Given the description of an element on the screen output the (x, y) to click on. 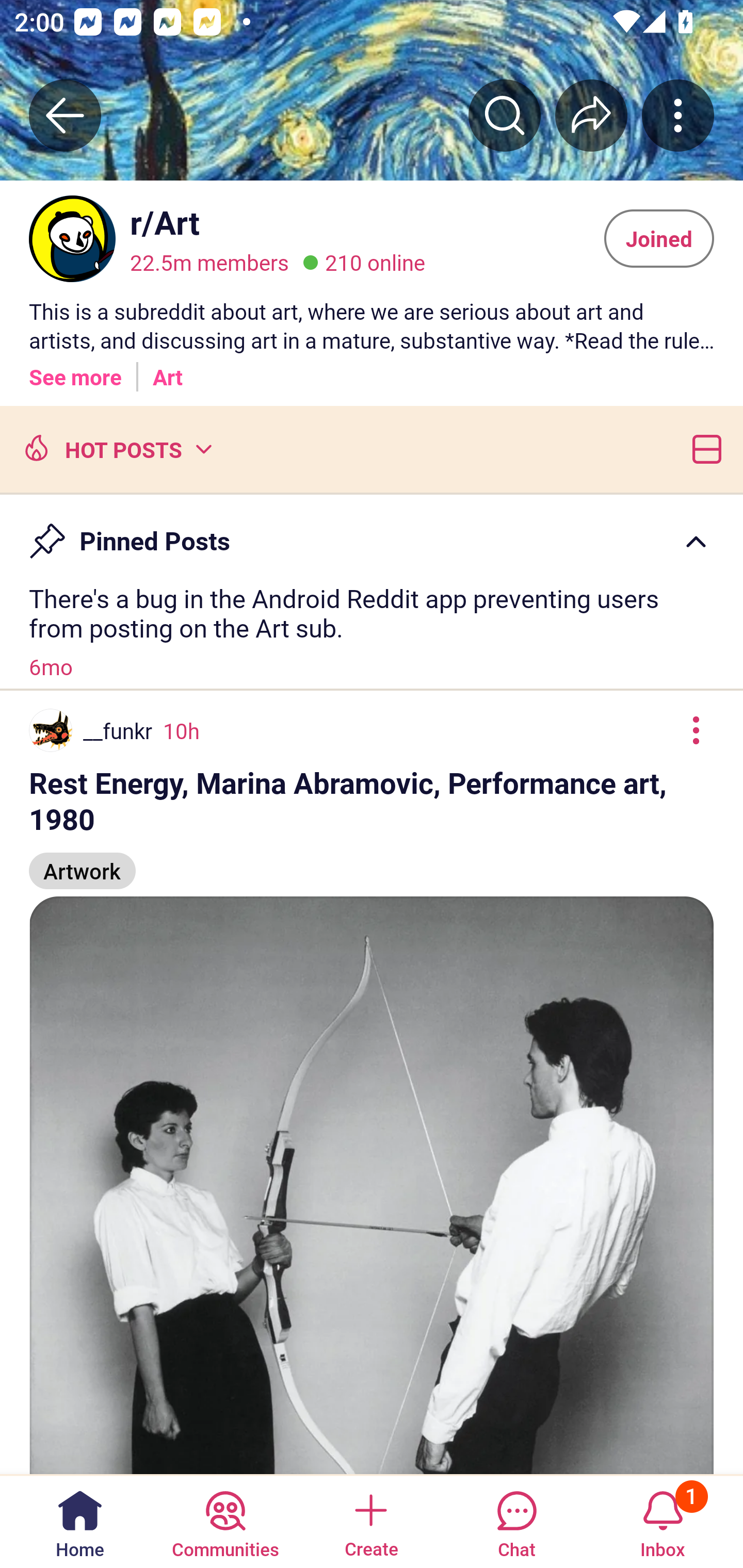
Back (64, 115)
Search r/﻿Art (504, 115)
Share r/﻿Art (591, 115)
More community actions (677, 115)
Hot posts HOT POSTS (116, 448)
Card (703, 448)
Pin Pinned Posts Caret (371, 531)
Artwork (81, 861)
Home (80, 1520)
Communities (225, 1520)
Create a post Create (370, 1520)
Chat (516, 1520)
Inbox, has 1 notification 1 Inbox (662, 1520)
